Given the description of an element on the screen output the (x, y) to click on. 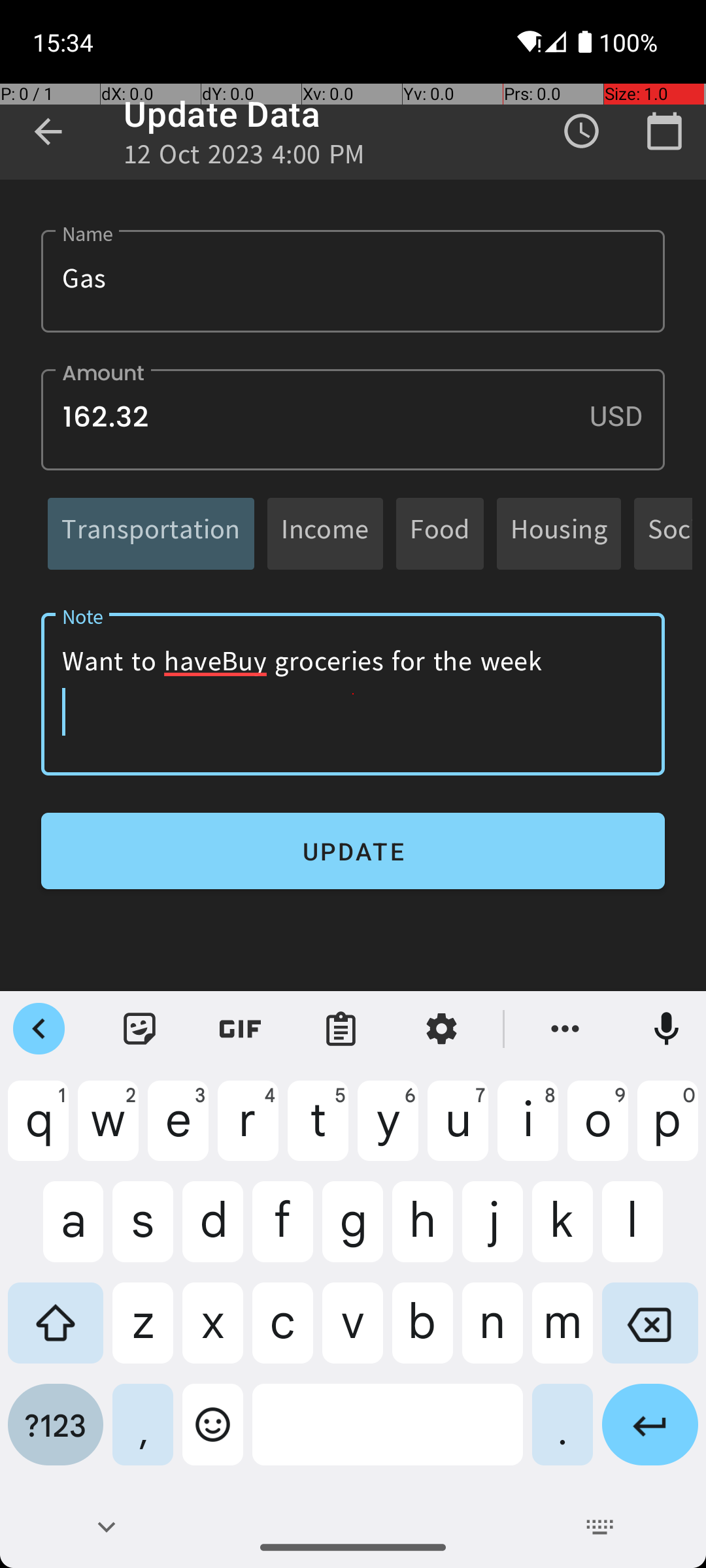
12 Oct 2023 4:00 PM Element type: android.widget.TextView (244, 157)
Gas Element type: android.widget.EditText (352, 280)
162.32 Element type: android.widget.EditText (352, 419)
Want to haveBuy groceries for the week
 Element type: android.widget.EditText (352, 693)
Transportation Element type: android.widget.TextView (150, 533)
